Given the description of an element on the screen output the (x, y) to click on. 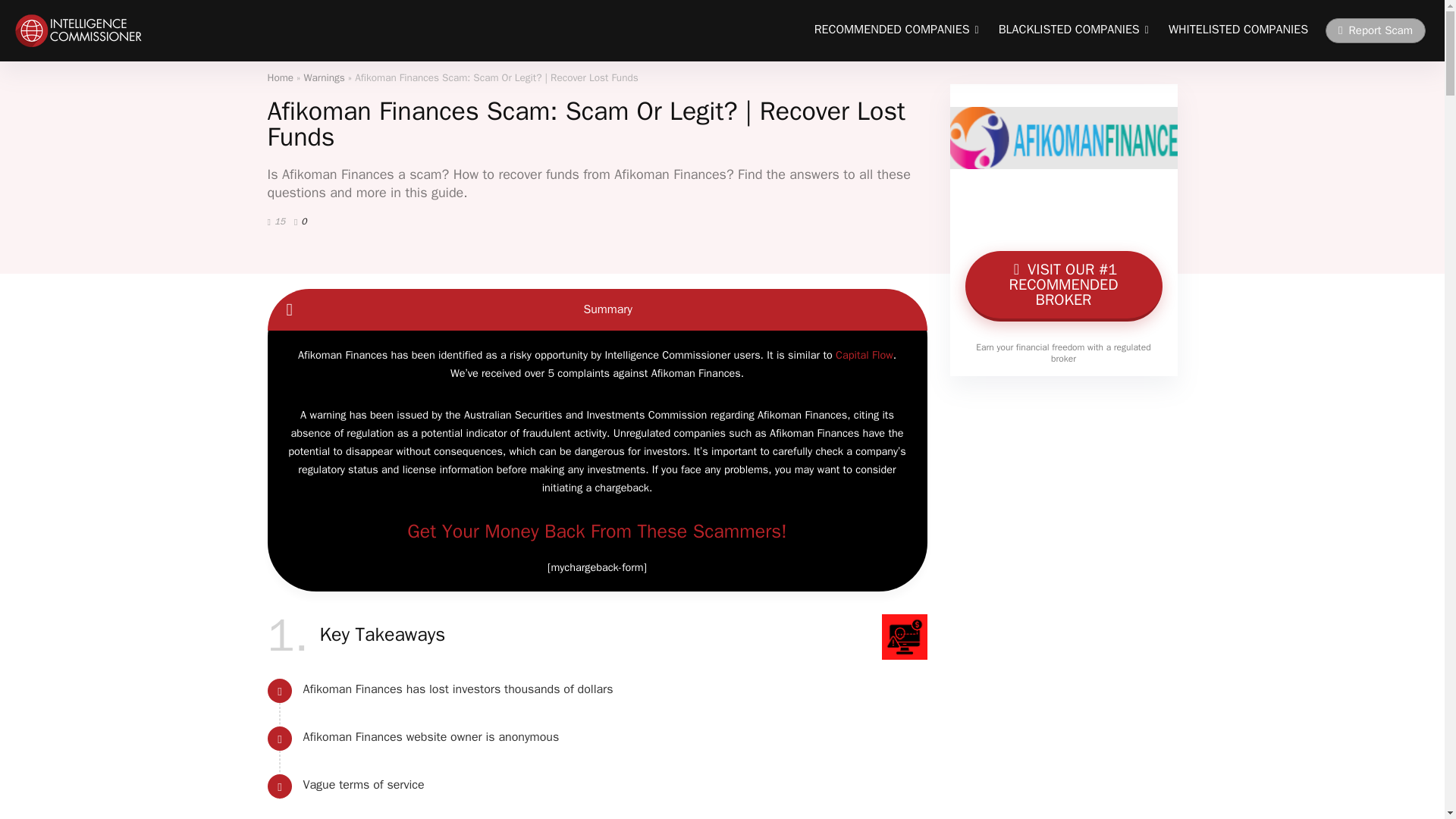
Home (280, 77)
RECOMMENDED COMPANIES (896, 30)
Warnings (324, 77)
Report Scam (1374, 30)
WHITELISTED COMPANIES (1237, 30)
BLACKLISTED COMPANIES (1073, 30)
MyCB (1062, 285)
Capital Flow (864, 354)
